Given the description of an element on the screen output the (x, y) to click on. 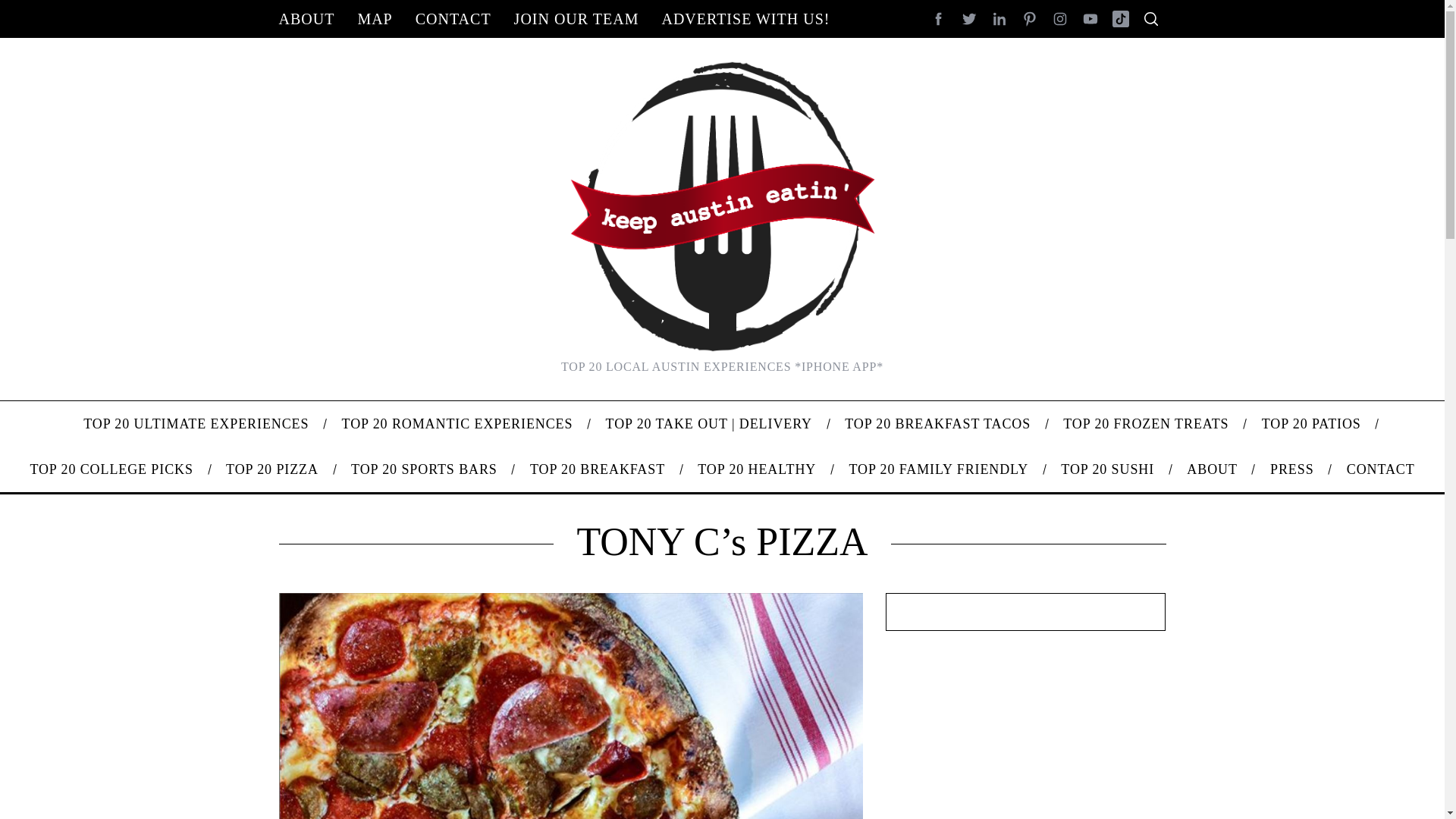
MAP (374, 18)
TOP 20 HEALTHY (756, 469)
TOP 20 BREAKFAST TACOS (937, 423)
TOP 20 BREAKFAST (597, 469)
ADVERTISE WITH US! (745, 18)
PRESS (1291, 469)
CONTACT (453, 18)
TOP 20 SUSHI (1107, 469)
CONTACT (1380, 469)
TOP 20 COLLEGE PICKS (111, 469)
